Given the description of an element on the screen output the (x, y) to click on. 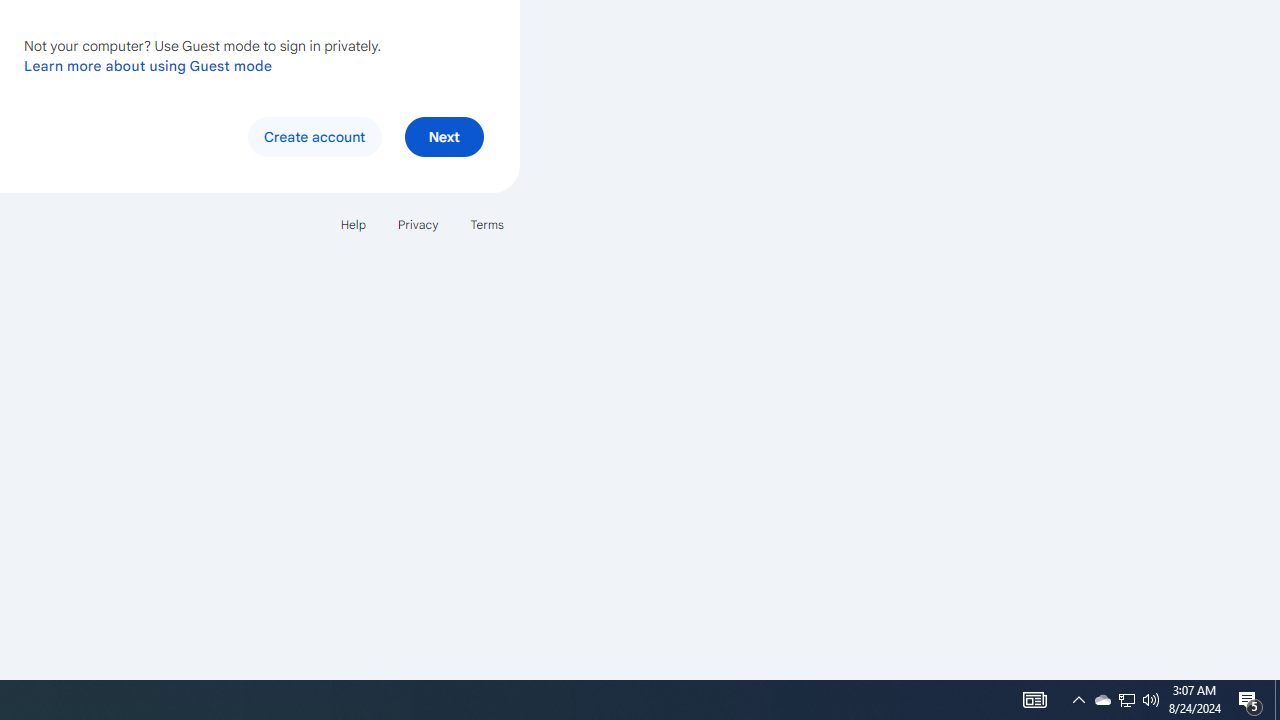
Privacy (417, 224)
Learn more about using Guest mode (148, 65)
Help (352, 224)
Next (443, 135)
Terms (486, 224)
Create account (314, 135)
